Given the description of an element on the screen output the (x, y) to click on. 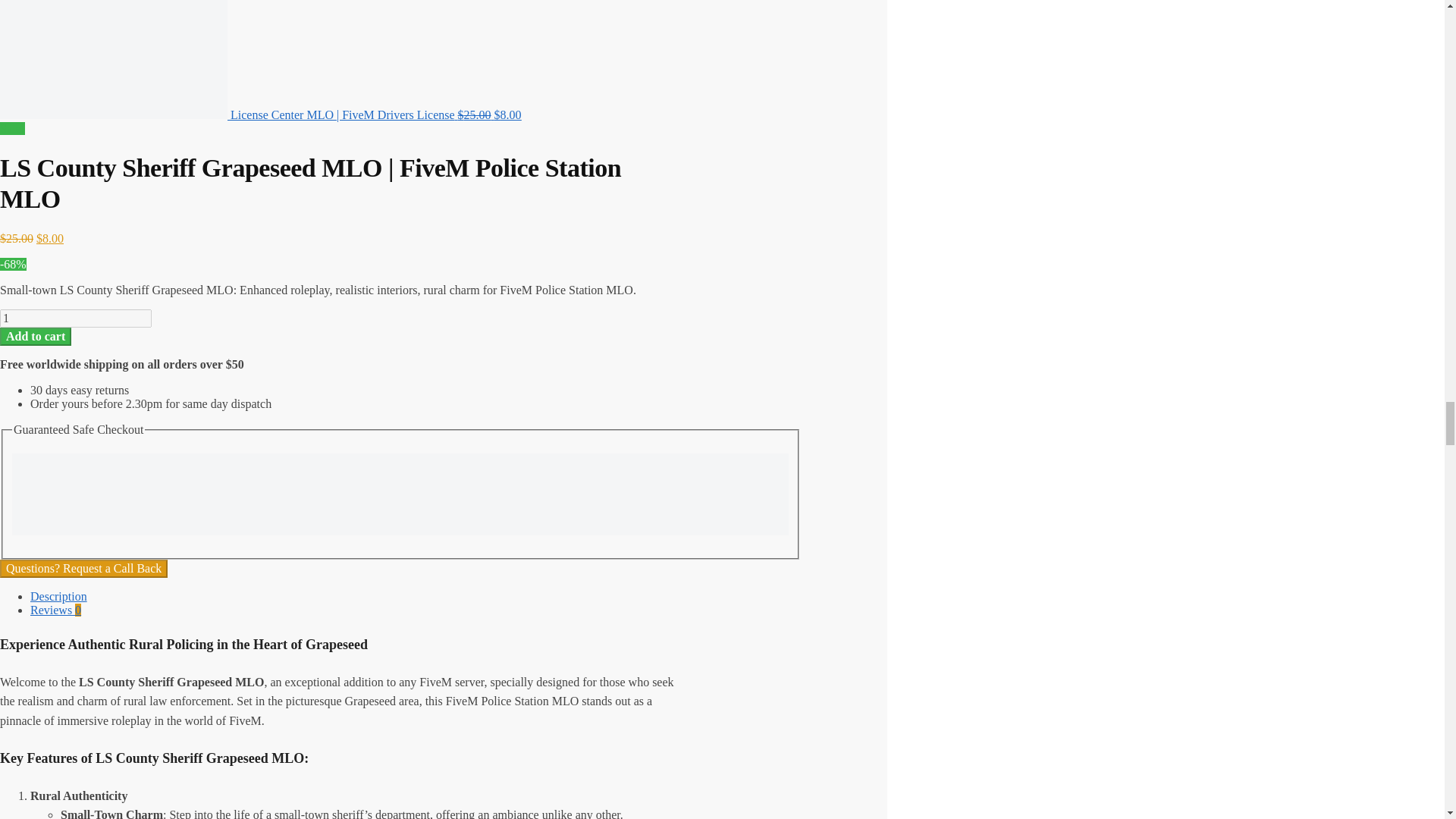
1 (75, 318)
